Given the description of an element on the screen output the (x, y) to click on. 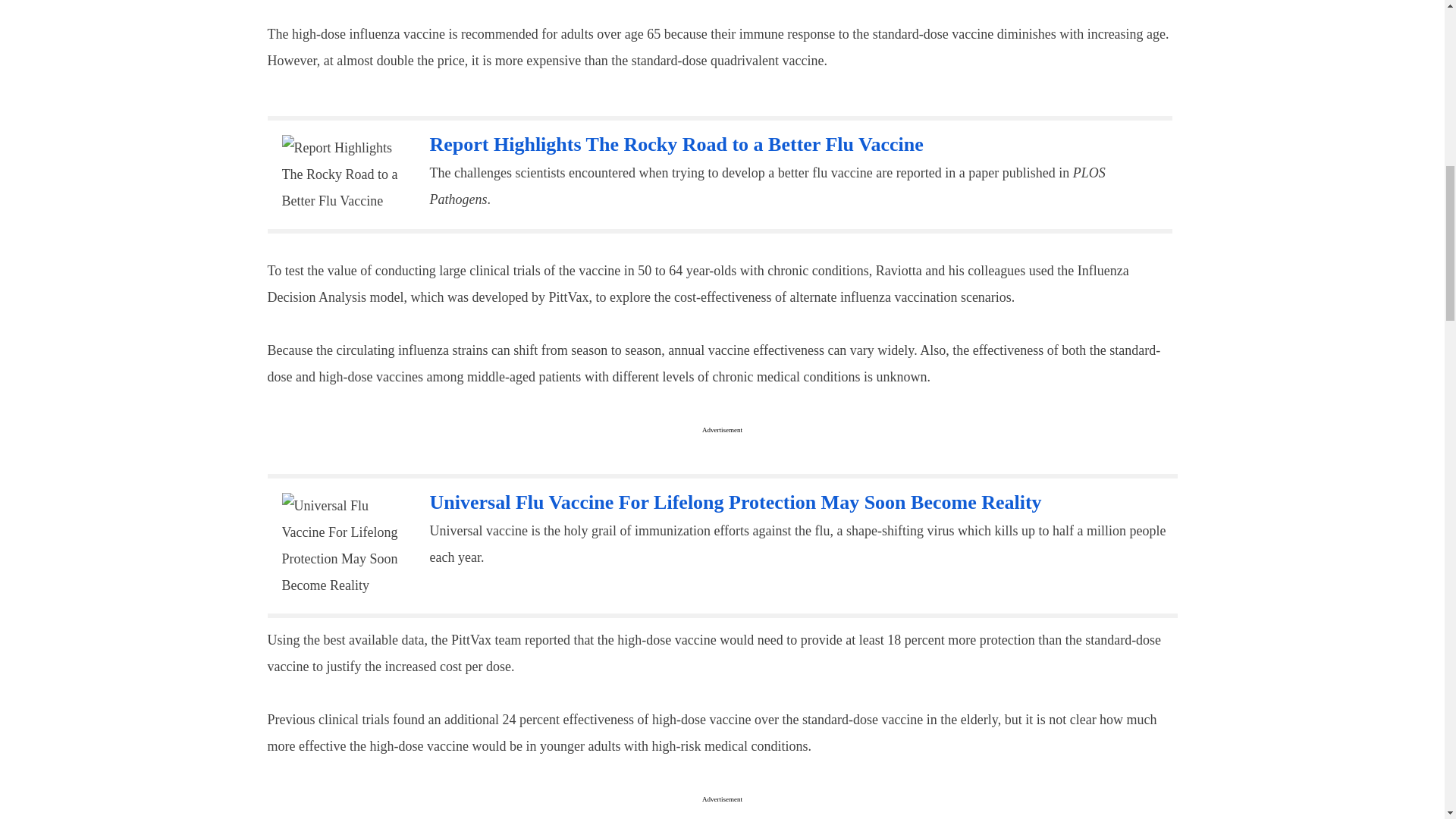
Report Highlights The Rocky Road to a Better Flu Vaccine (676, 144)
Report Highlights The Rocky Road to a Better Flu Vaccine (676, 144)
Report Highlights The Rocky Road to a Better Flu Vaccine (344, 174)
